Given the description of an element on the screen output the (x, y) to click on. 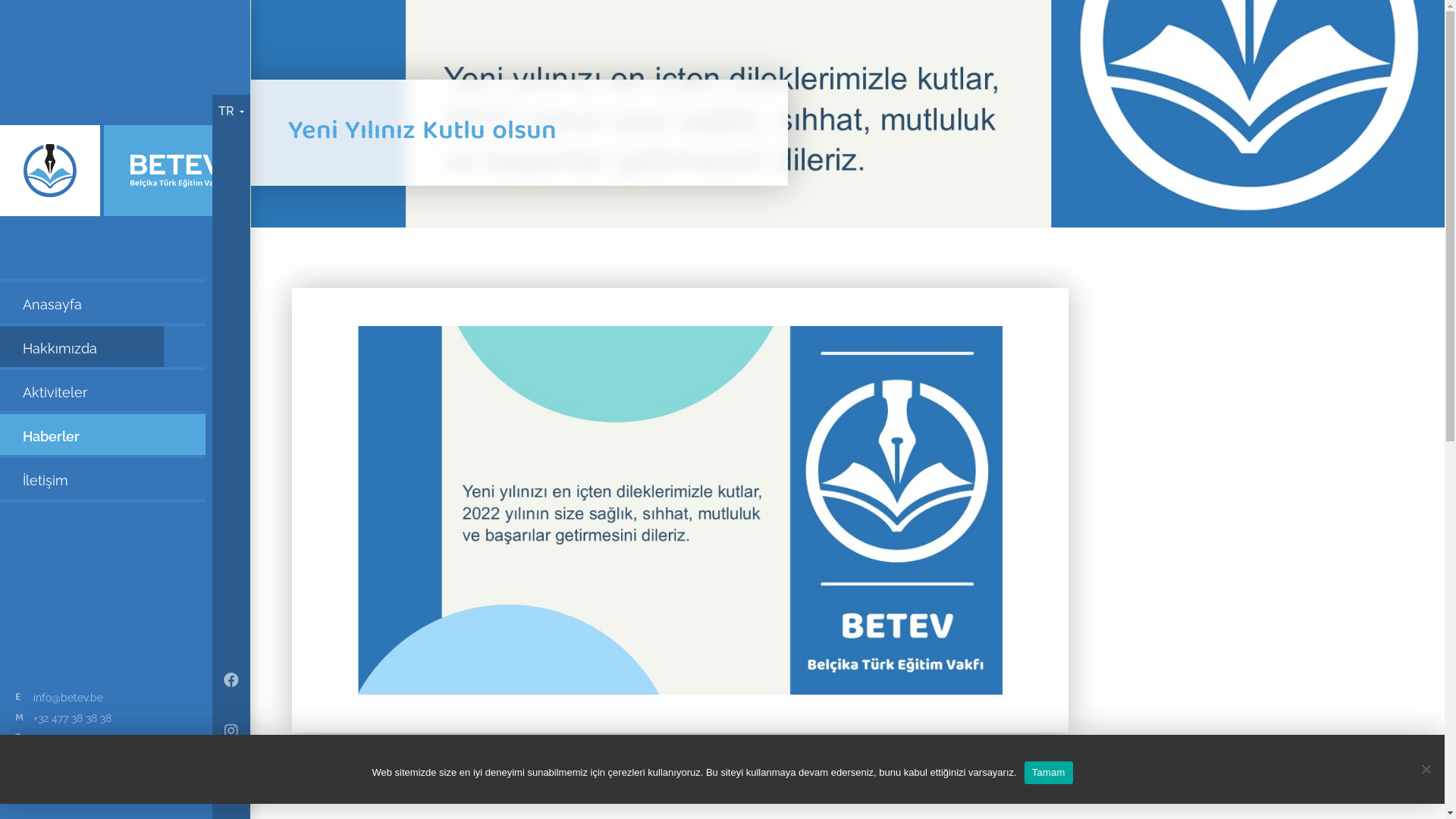
Aktiviteler Element type: text (102, 390)
Tamam Element type: text (1048, 772)
Anasayfa Element type: text (102, 302)
+32 22 41 42 41 Element type: text (68, 738)
Haachtsesteenweg 173,
1030 Schaarbeek / Brussel Element type: text (100, 765)
info@betev.be Element type: text (68, 698)
+32 477 38 38 38 Element type: text (72, 718)
Haberler Element type: text (102, 434)
